Given the description of an element on the screen output the (x, y) to click on. 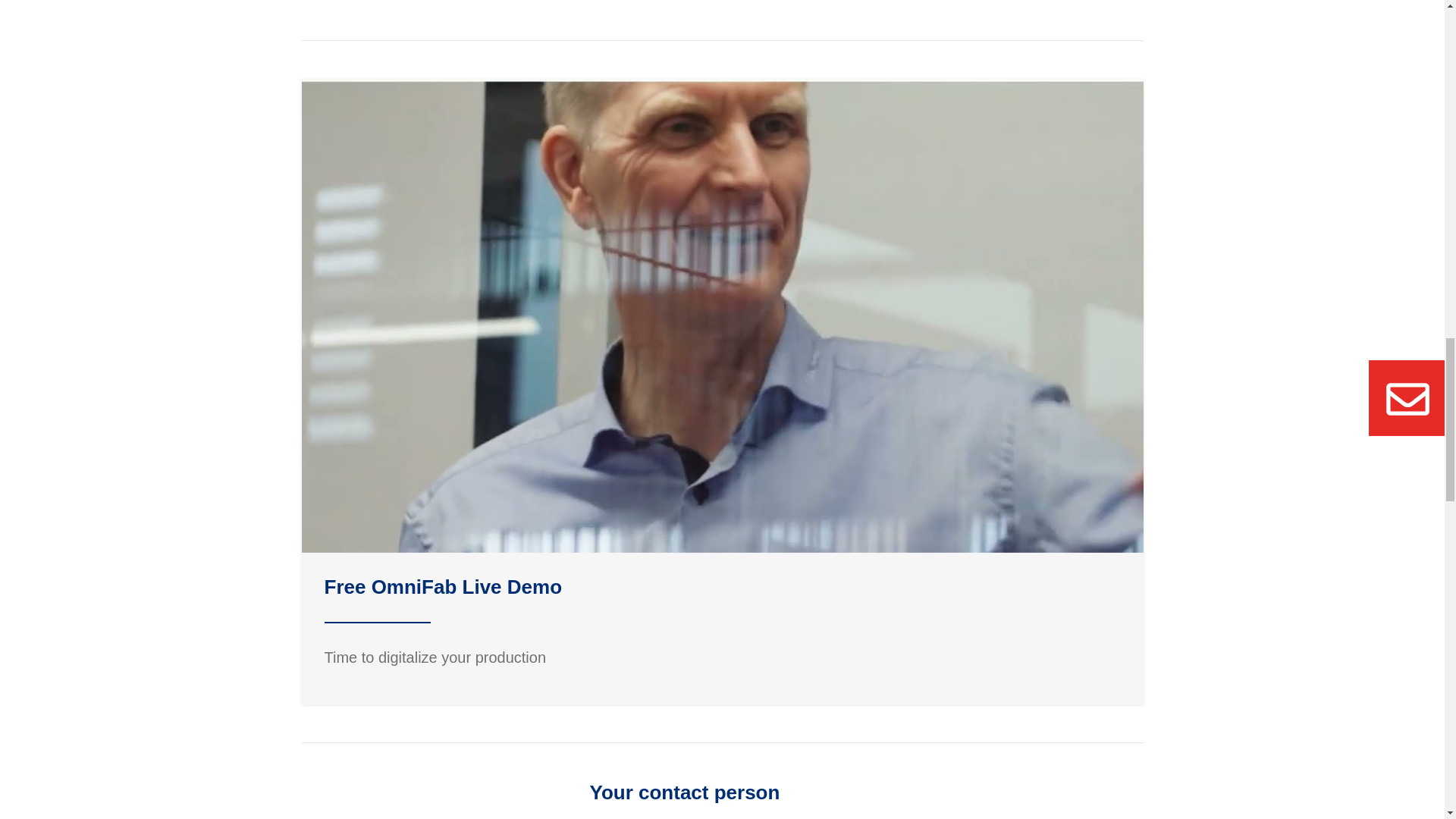
Free OmniFab Live Demo (443, 586)
